Given the description of an element on the screen output the (x, y) to click on. 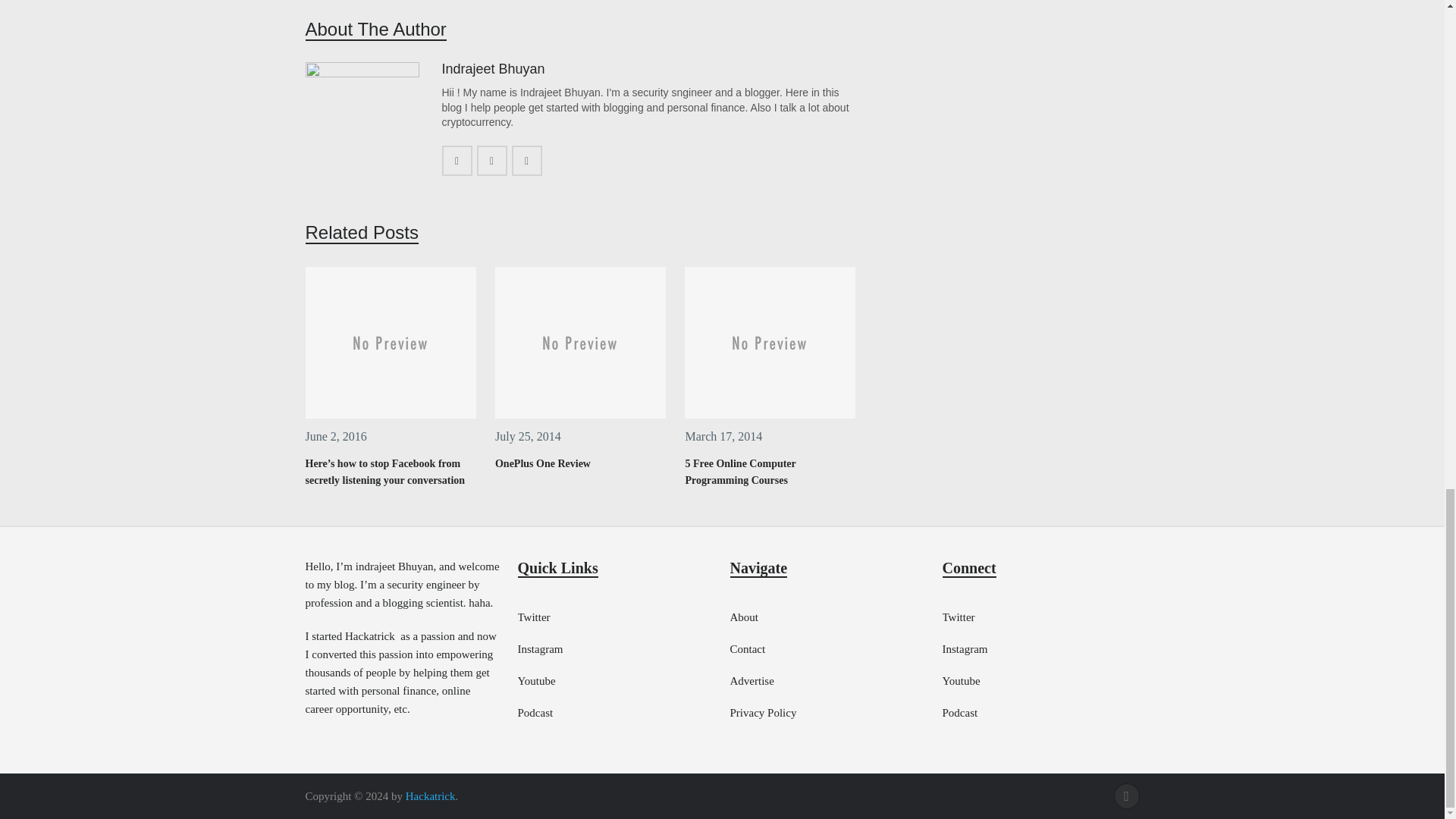
About (743, 616)
Instagram (539, 648)
5 Free Online Computer Programming Courses (739, 471)
OnePlus One Review (543, 463)
OnePlus One Review (580, 342)
Podcast (534, 712)
Twitter (958, 616)
Hackatrick (430, 796)
5 Free Online Computer Programming Courses (770, 342)
Privacy Policy (762, 712)
Indrajeet Bhuyan (492, 68)
 Just another WordPress site (430, 796)
OnePlus One Review (543, 463)
5 Free Online Computer Programming Courses (739, 471)
Twitter (533, 616)
